Given the description of an element on the screen output the (x, y) to click on. 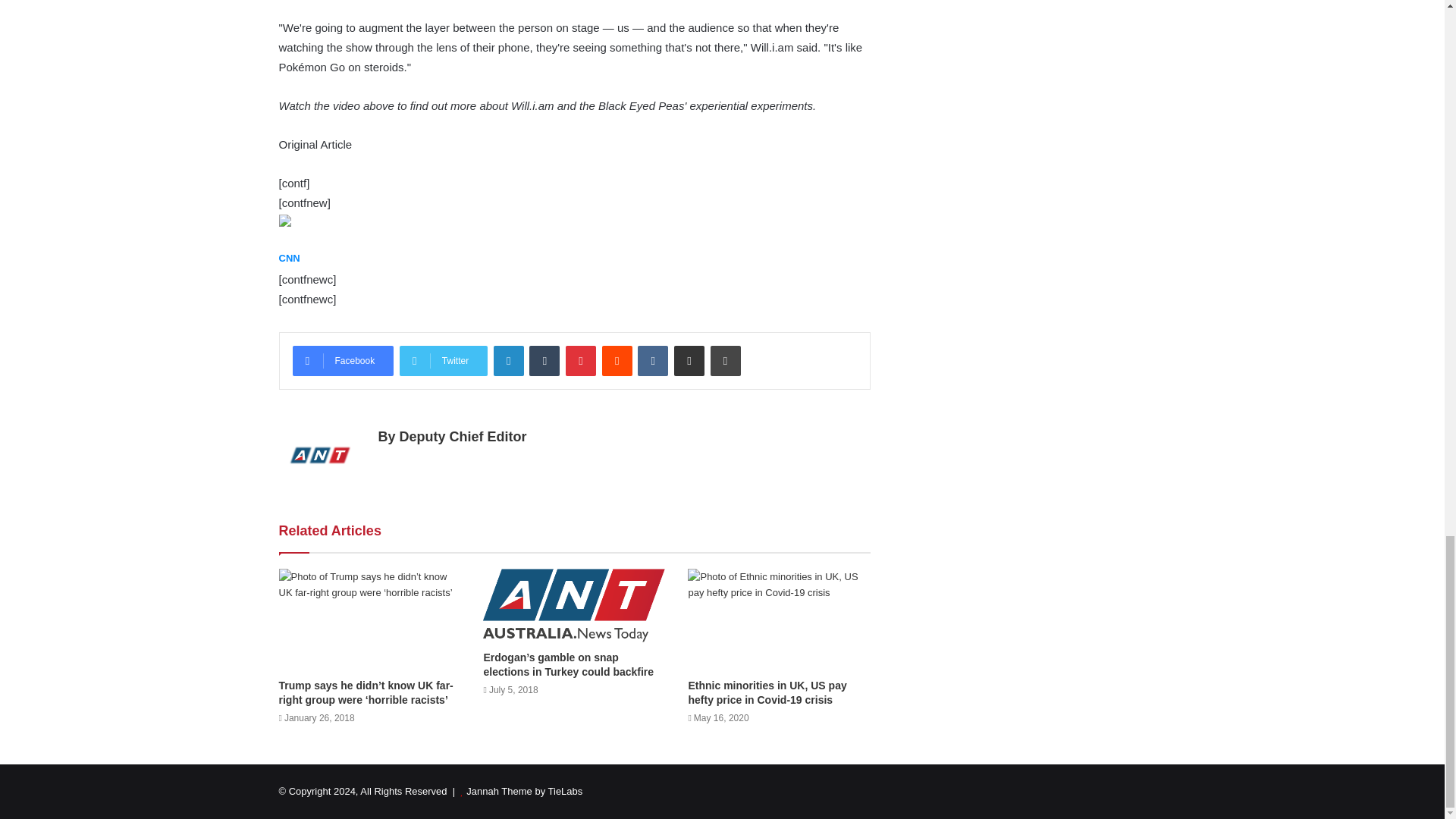
Facebook (343, 360)
Tumblr (544, 360)
CNN (289, 257)
Print (725, 360)
Twitter (442, 360)
Twitter (442, 360)
LinkedIn (508, 360)
LinkedIn (508, 360)
Reddit (616, 360)
Pinterest (580, 360)
Print (725, 360)
VKontakte (652, 360)
Share via Email (689, 360)
Tumblr (544, 360)
VKontakte (652, 360)
